Given the description of an element on the screen output the (x, y) to click on. 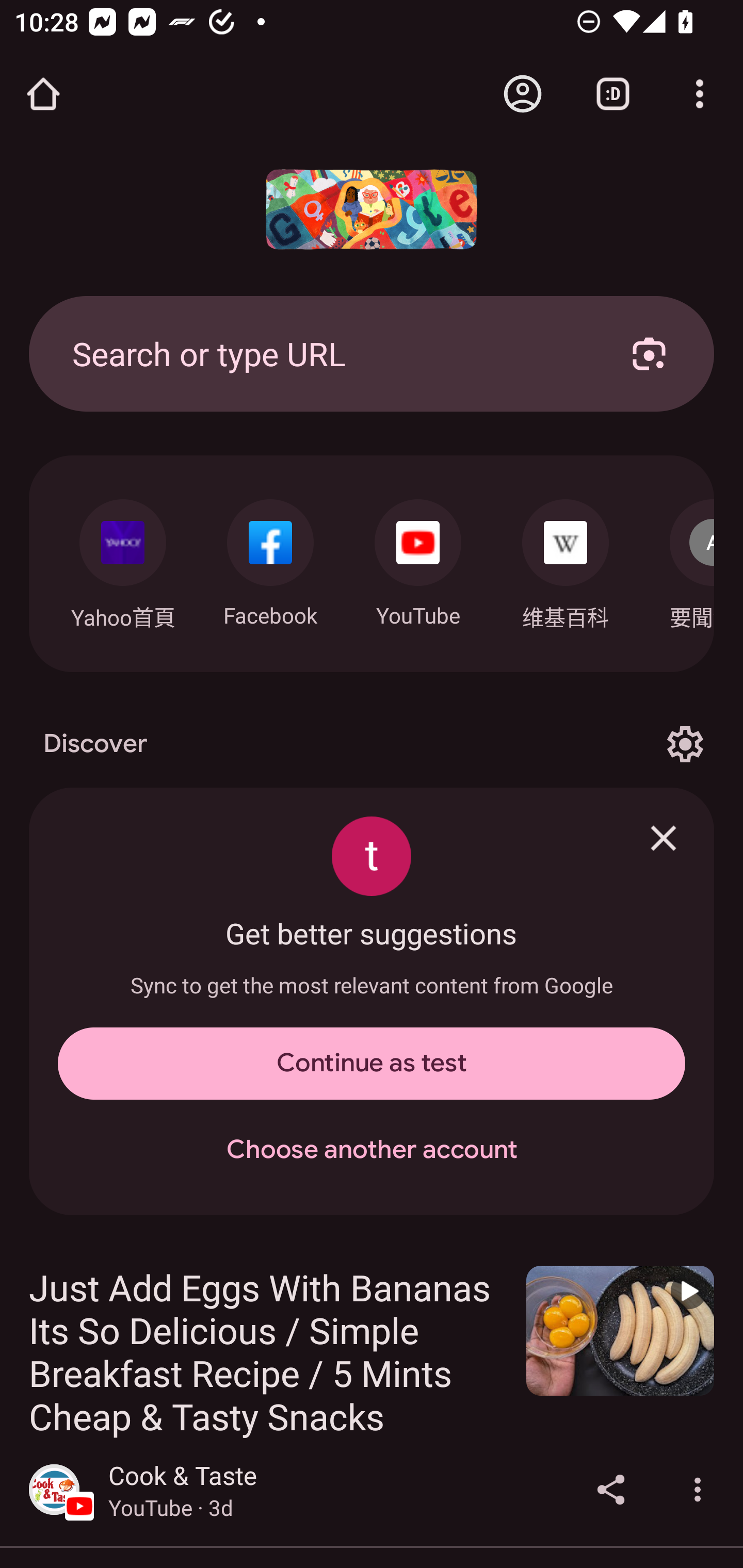
Open the home page (43, 93)
Switch or close tabs (612, 93)
Customize and control Google Chrome (699, 93)
Google doodle: 2024 年國際婦女節 (371, 209)
Search or type URL (327, 353)
Search with your camera using Google Lens (648, 353)
Navigate: Yahoo首頁: hk.mobi.yahoo.com Yahoo首頁 (122, 558)
Navigate: Facebook: m.facebook.com Facebook (270, 558)
Navigate: YouTube: m.youtube.com YouTube (417, 558)
Navigate: 维基百科: zh.m.wikipedia.org 维基百科 (565, 558)
Options for Discover (684, 743)
Close (663, 837)
Continue as test (371, 1063)
Choose another account (371, 1150)
